Given the description of an element on the screen output the (x, y) to click on. 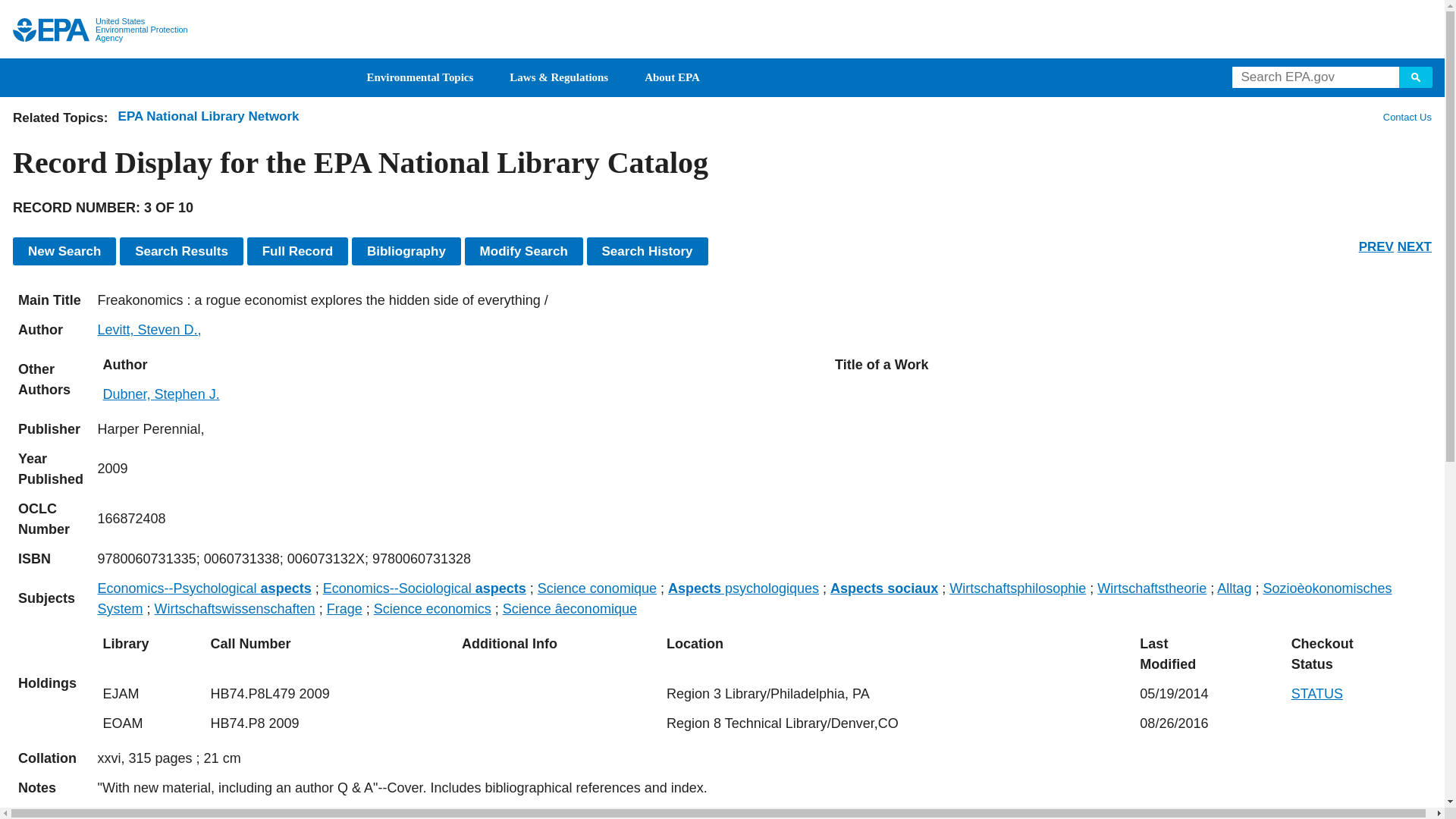
Bibliography (406, 251)
Environmental Topics (420, 77)
Show results in standard format (181, 251)
Economics--Psychological aspects (204, 588)
Your Search History (646, 251)
Search (1415, 76)
Search Results (181, 251)
Science conomique (596, 588)
US EPA (50, 29)
